Given the description of an element on the screen output the (x, y) to click on. 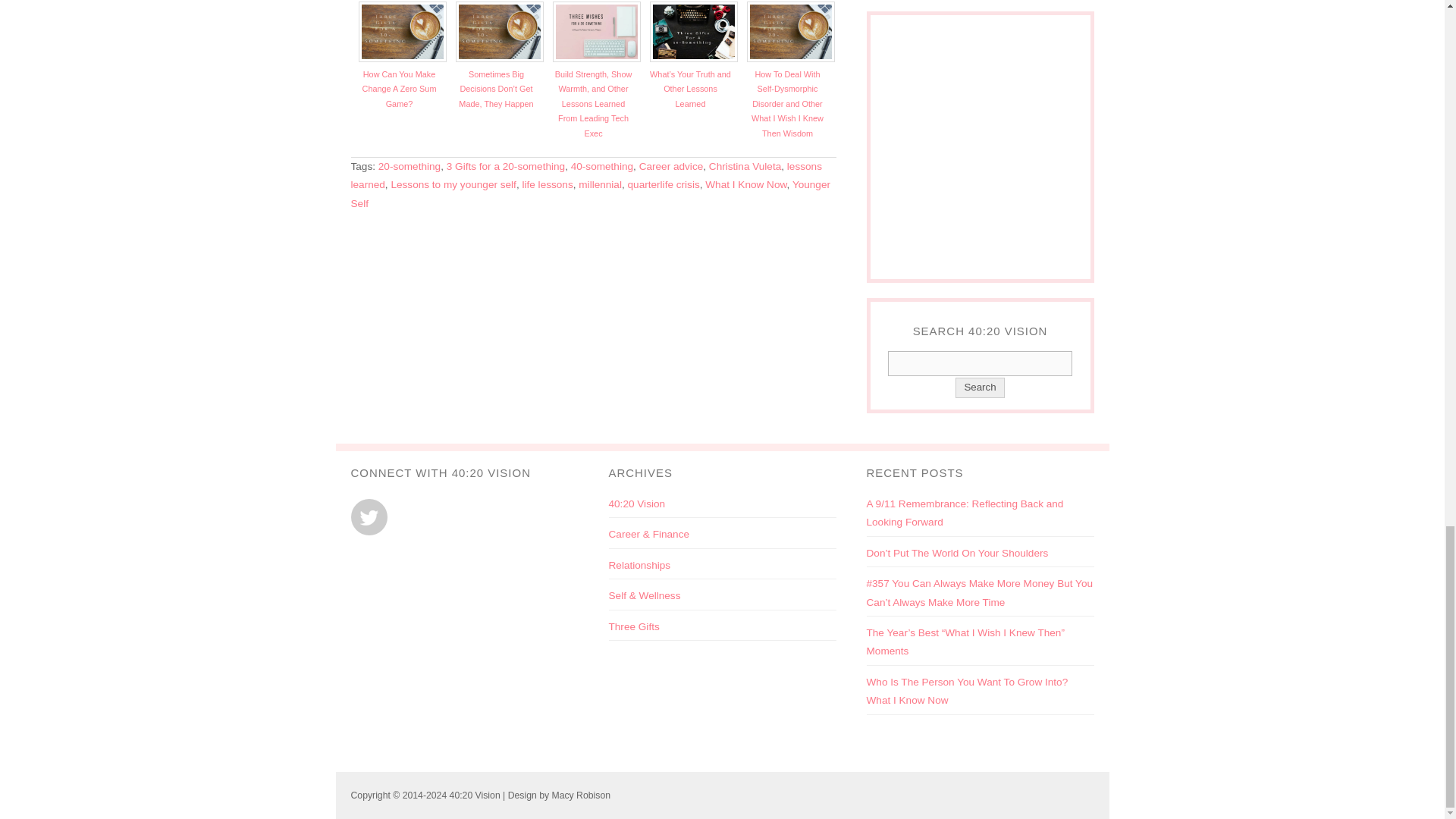
3 Gifts for a 20-something (505, 165)
Christina Vuleta (744, 165)
How Can You Make Change A Zero Sum Game? (399, 88)
Search (979, 363)
Career advice (671, 165)
lessons learned (585, 175)
40-something (601, 165)
20-something (409, 165)
